Given the description of an element on the screen output the (x, y) to click on. 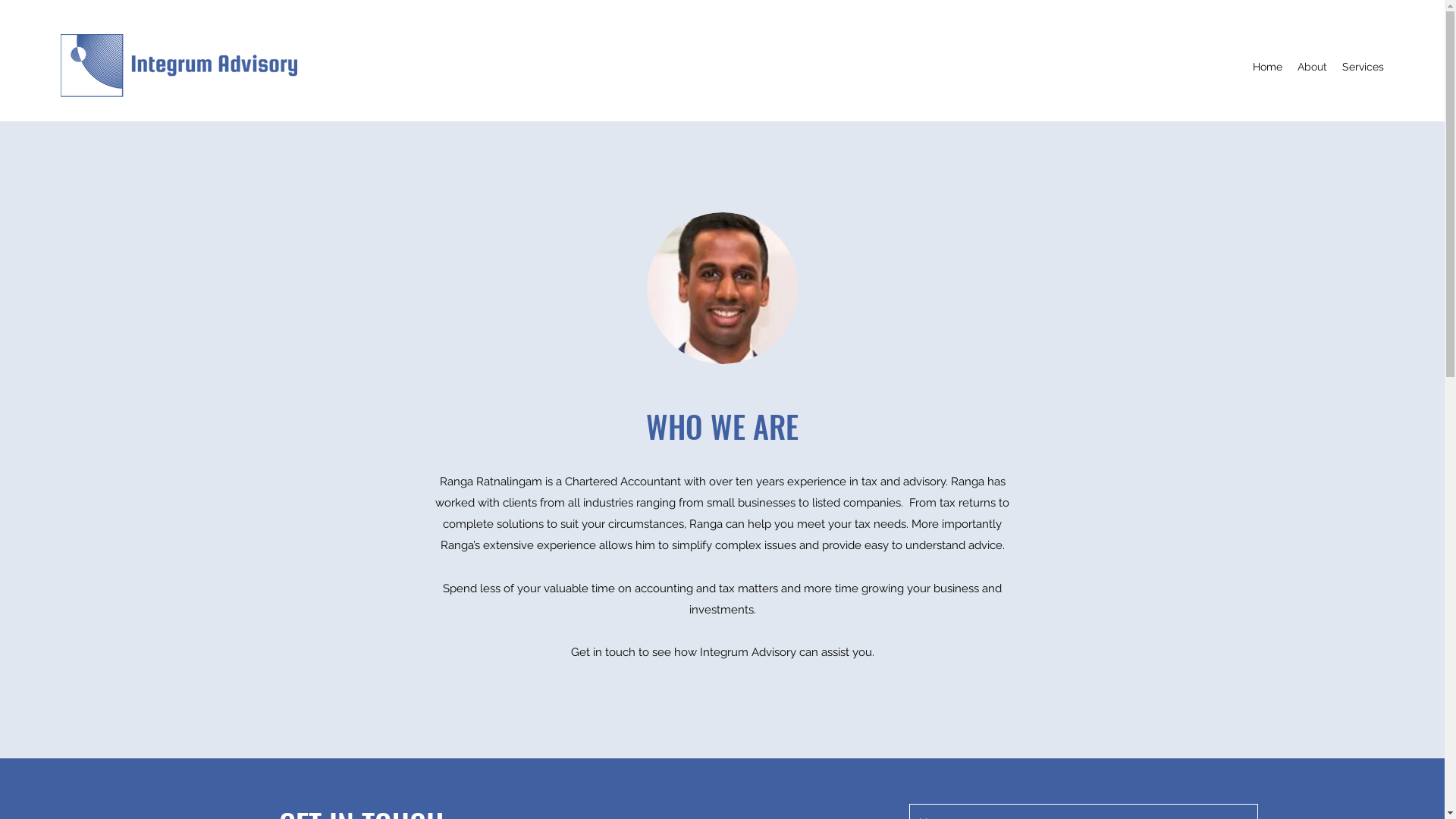
Home Element type: text (1267, 66)
About Element type: text (1311, 66)
Services Element type: text (1362, 66)
